Given the description of an element on the screen output the (x, y) to click on. 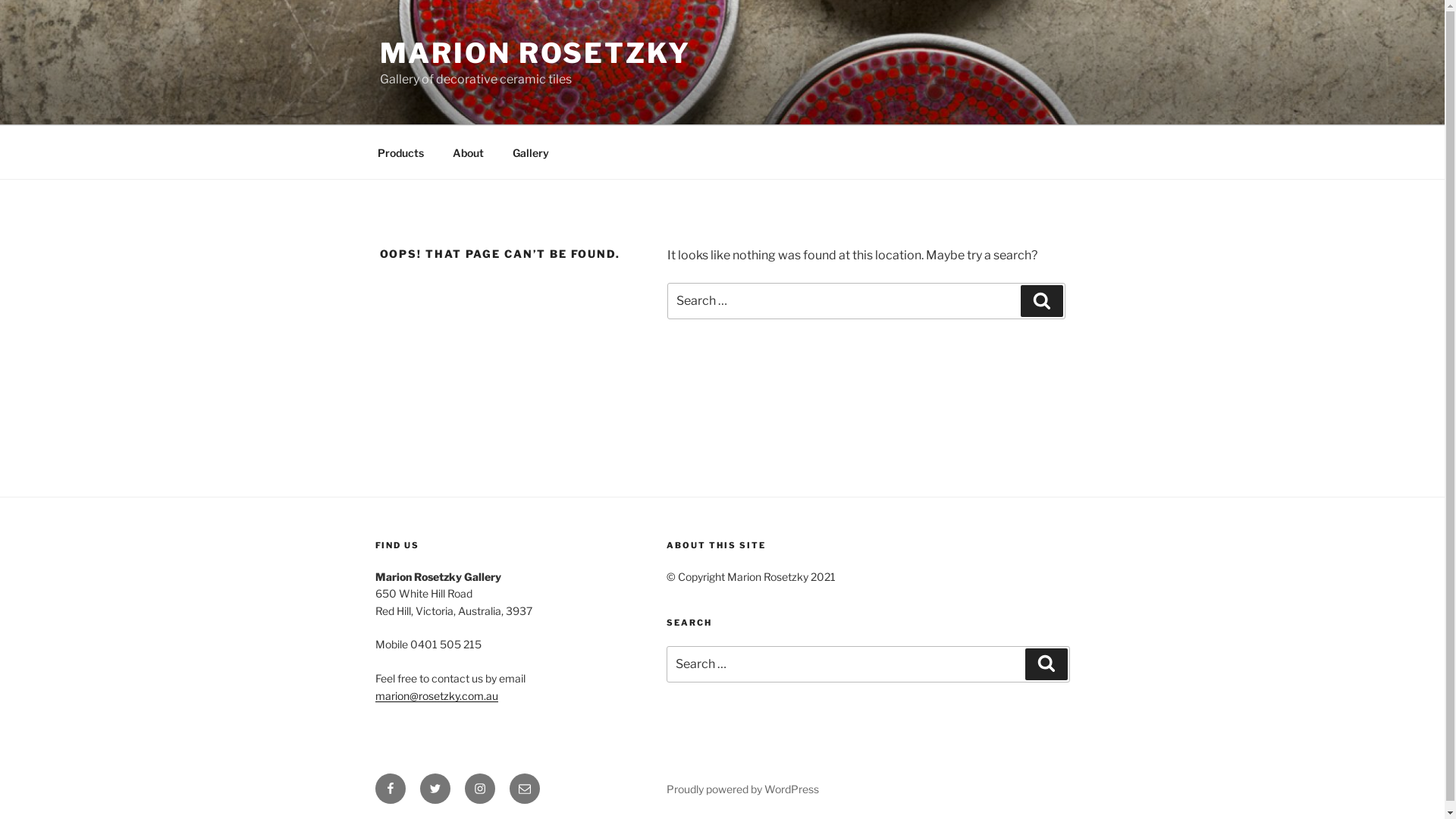
Facebook Element type: text (389, 788)
Instagram Element type: text (479, 788)
Proudly powered by WordPress Element type: text (742, 788)
Twitter Element type: text (435, 788)
Products Element type: text (400, 151)
Search Element type: text (1046, 664)
marion@rosetzky.com.au Element type: text (435, 694)
Email Element type: text (524, 788)
About Element type: text (468, 151)
Skip to content Element type: text (0, 0)
Search Element type: text (1041, 300)
MARION ROSETZKY Element type: text (534, 52)
Gallery Element type: text (529, 151)
